Given the description of an element on the screen output the (x, y) to click on. 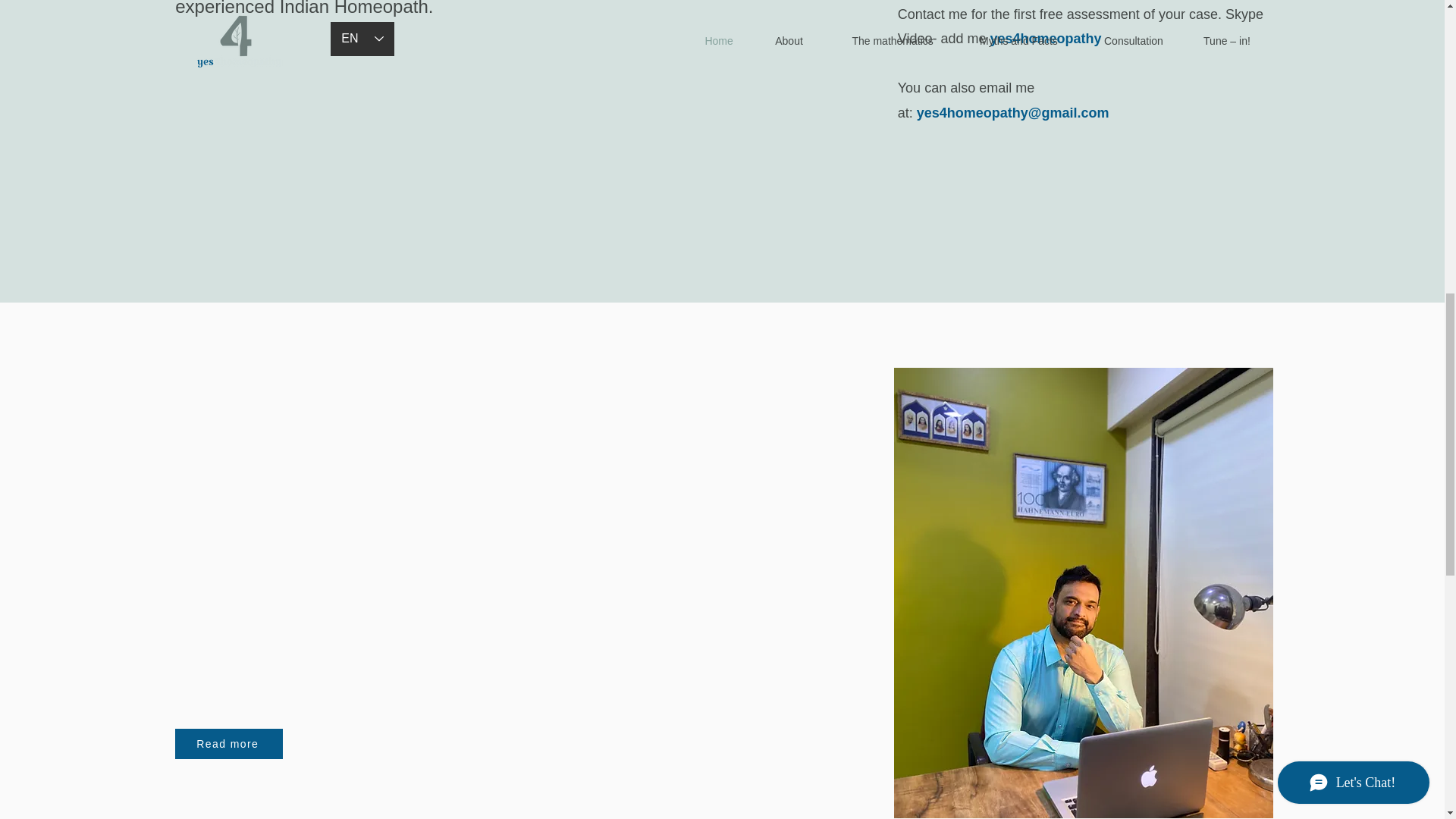
Read more (228, 743)
